Given the description of an element on the screen output the (x, y) to click on. 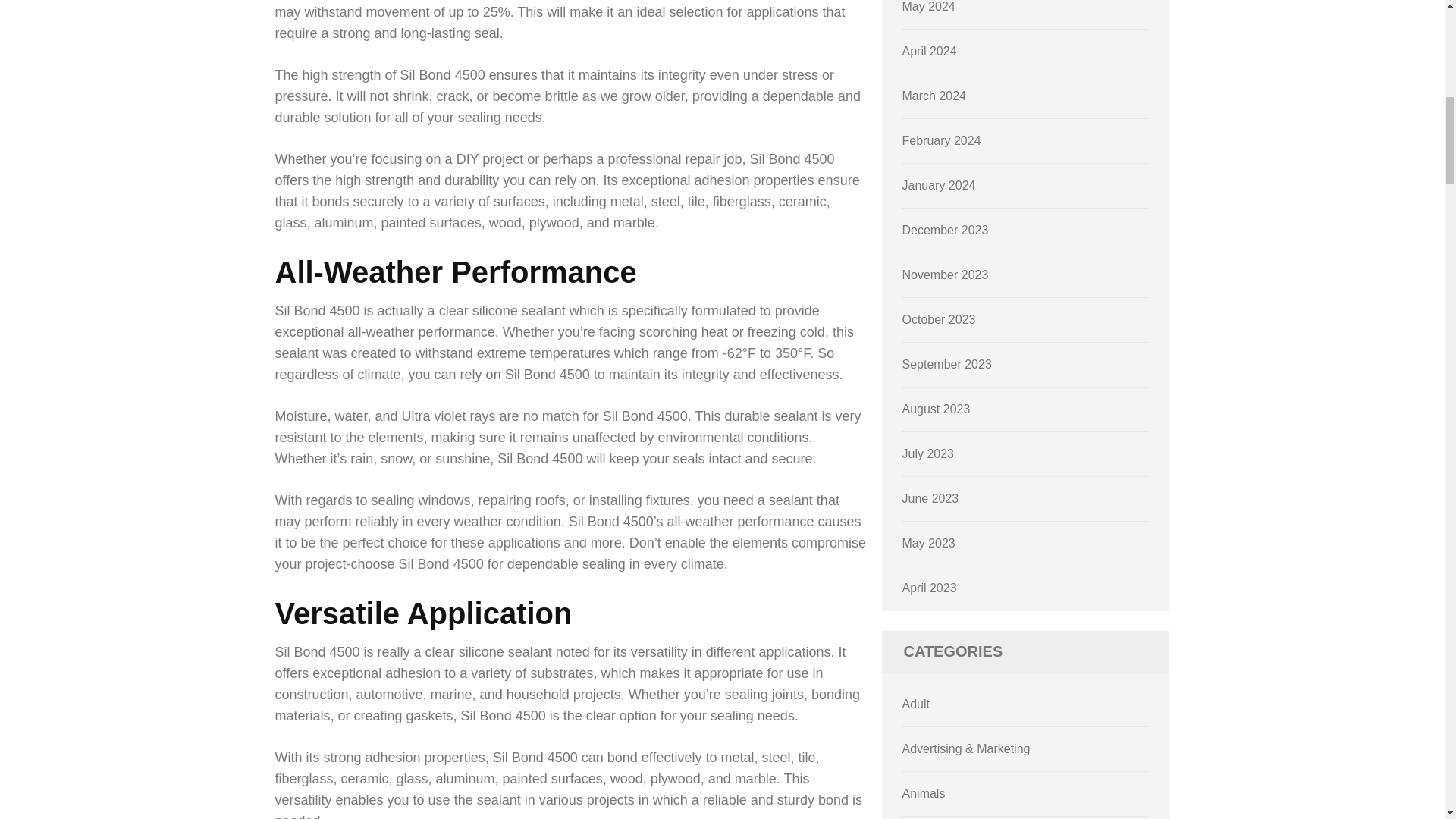
September 2023 (946, 364)
August 2023 (936, 408)
March 2024 (934, 95)
June 2023 (930, 498)
December 2023 (945, 229)
May 2023 (928, 543)
July 2023 (928, 453)
May 2024 (928, 6)
February 2024 (941, 140)
November 2023 (945, 274)
